Given the description of an element on the screen output the (x, y) to click on. 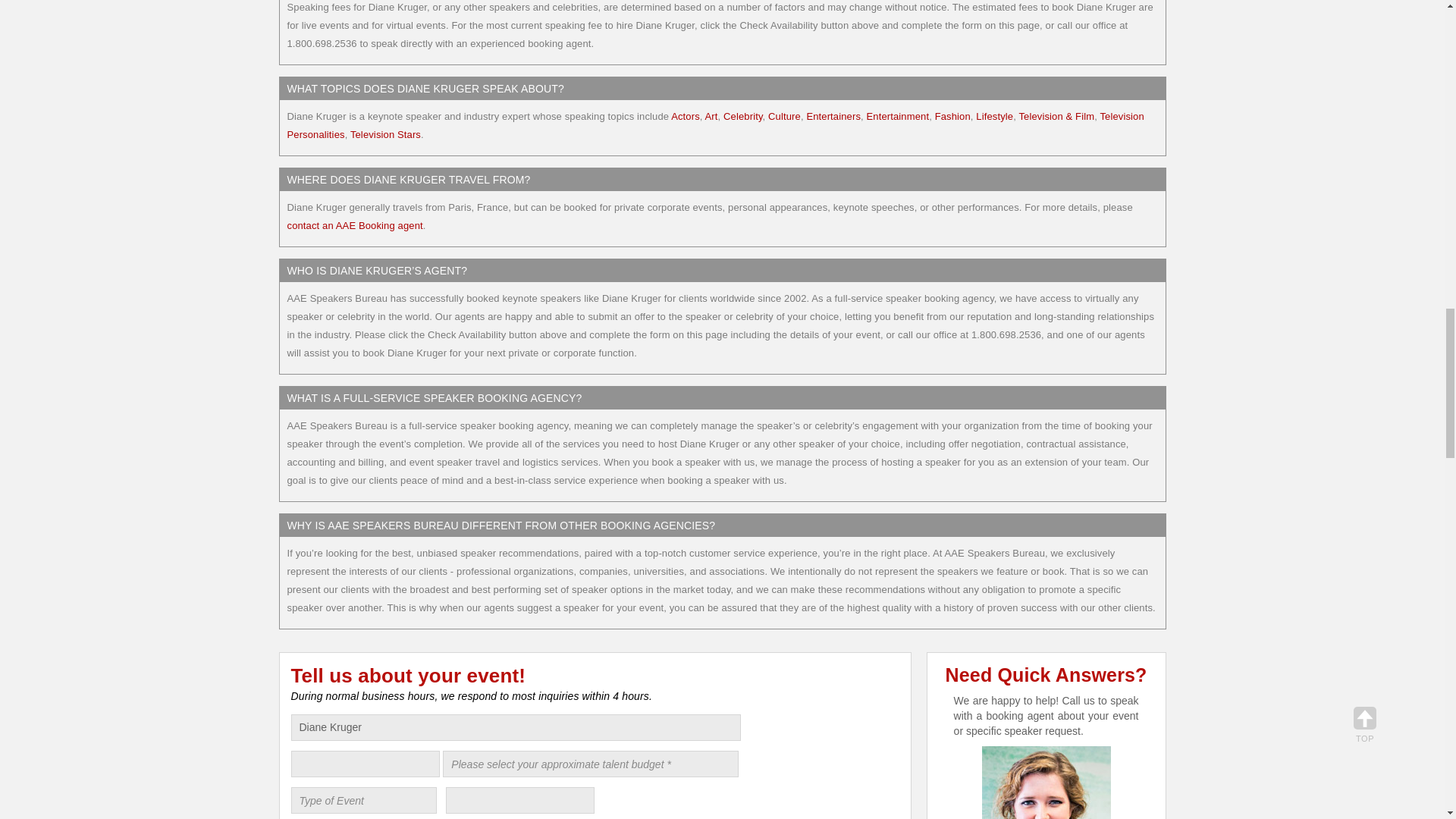
Diane Kruger (516, 727)
